Given the description of an element on the screen output the (x, y) to click on. 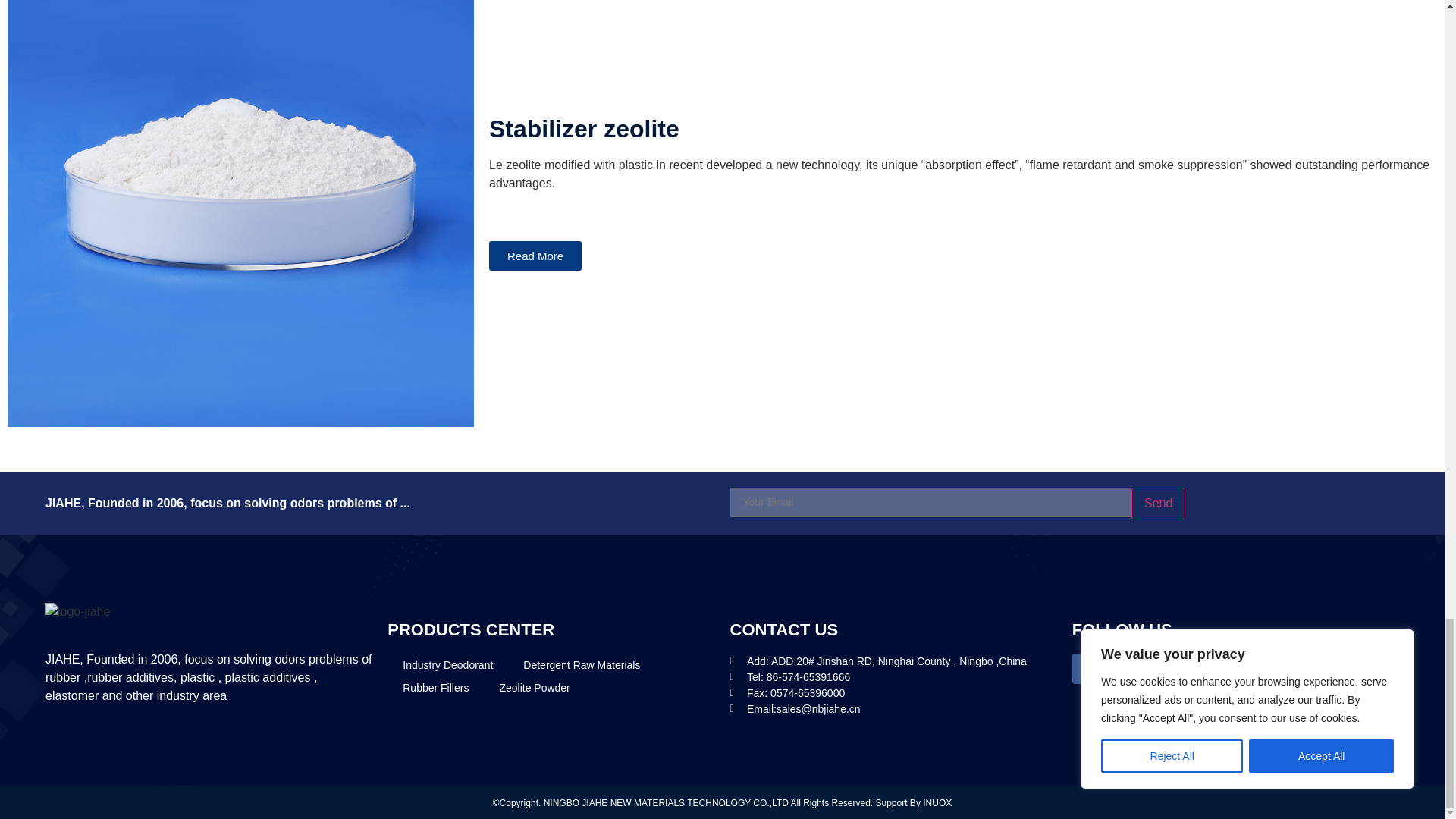
Send (1158, 503)
